Given the description of an element on the screen output the (x, y) to click on. 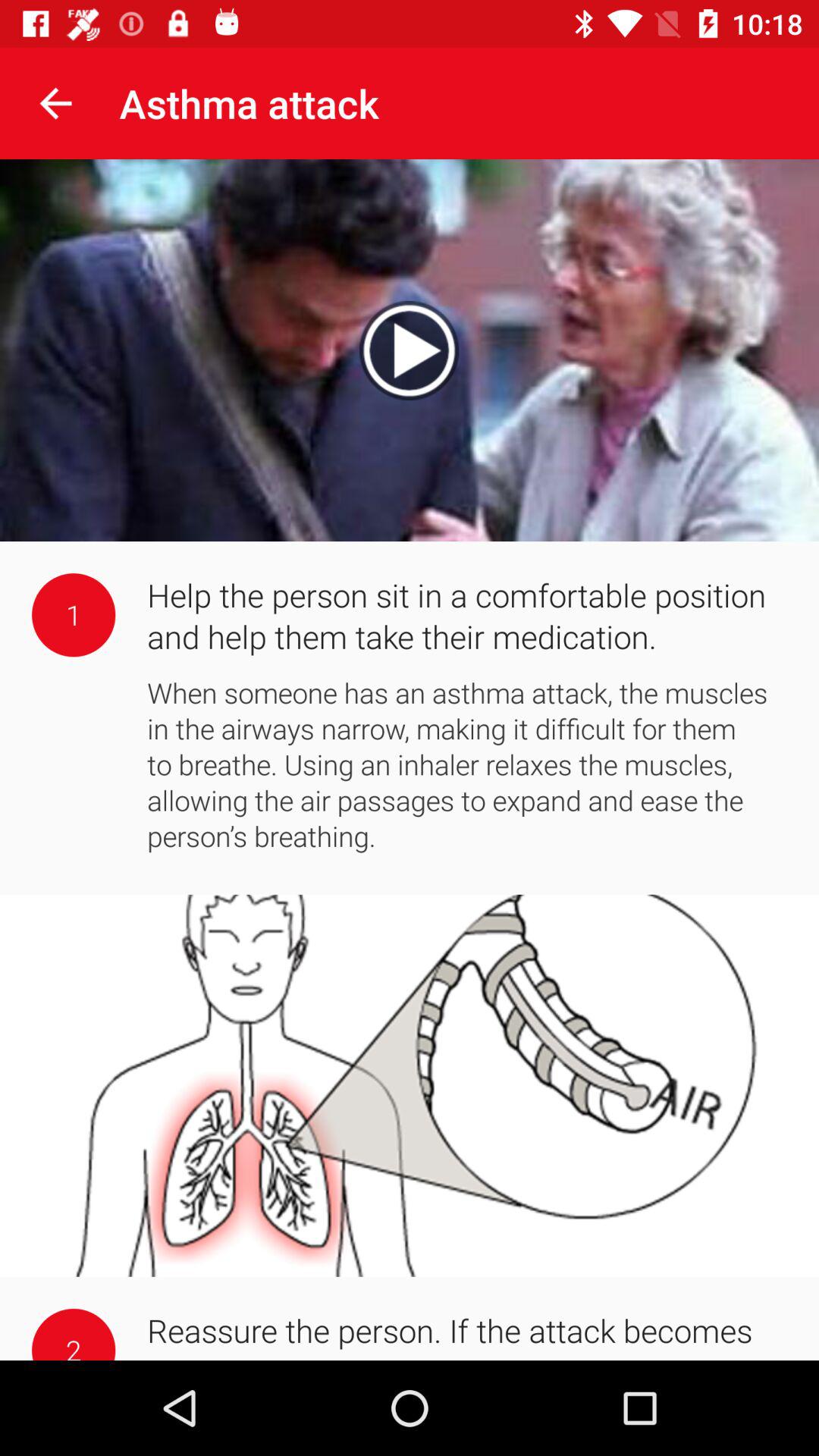
choose icon next to the asthma attack (55, 103)
